Given the description of an element on the screen output the (x, y) to click on. 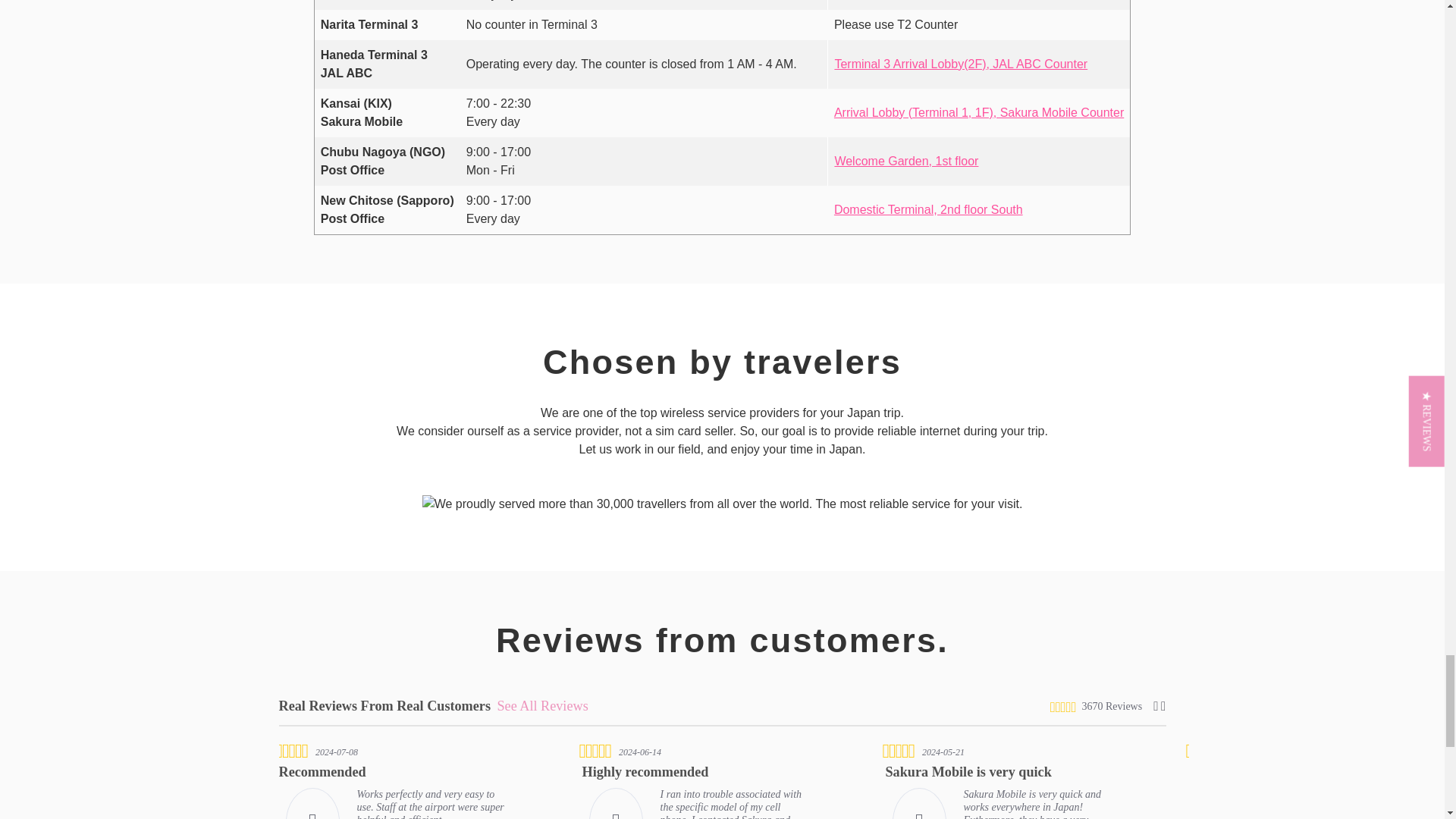
See All Reviews (542, 705)
